Given the description of an element on the screen output the (x, y) to click on. 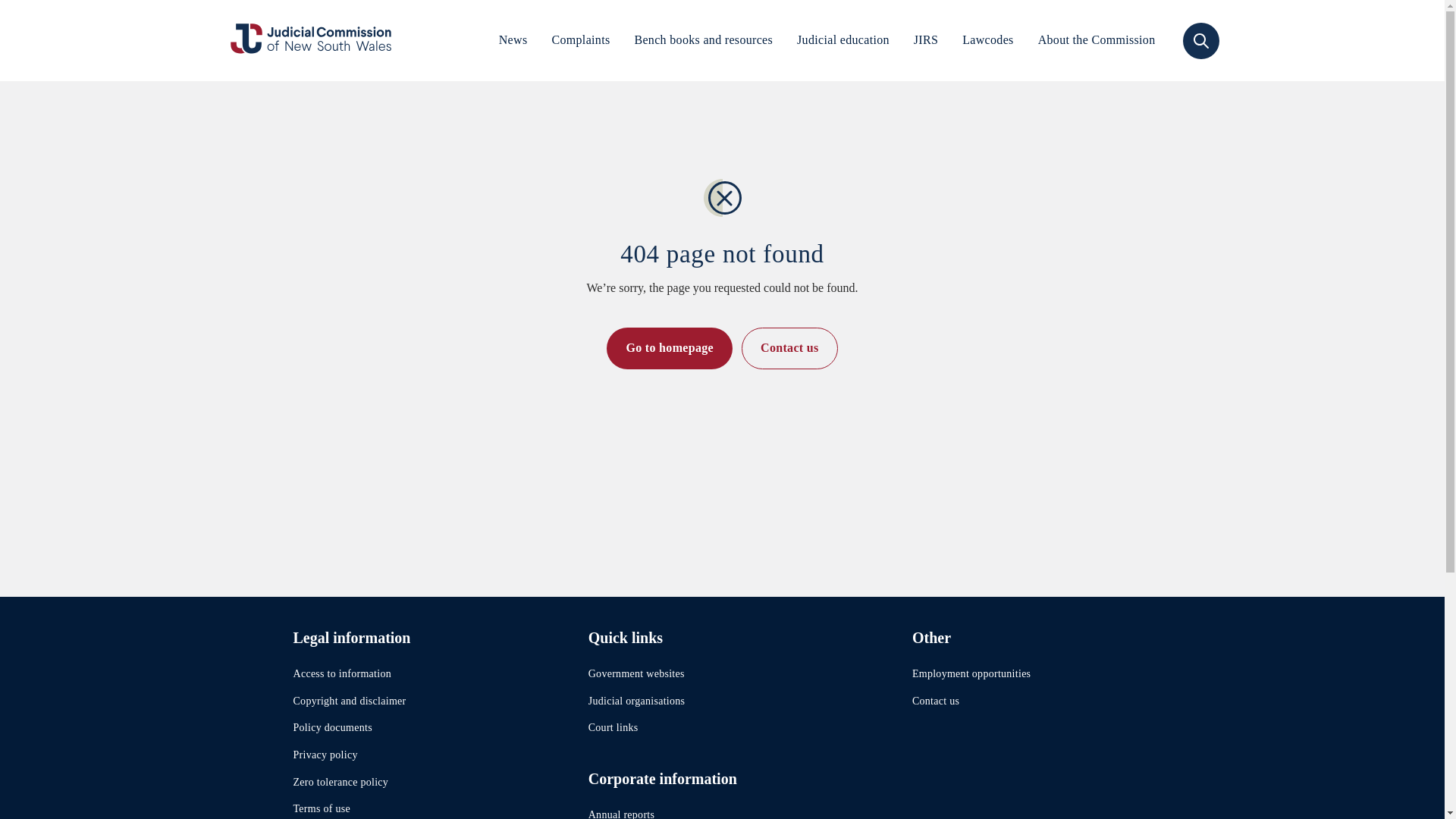
Go to homepage (669, 347)
JIRS (925, 40)
Lawcodes (987, 40)
Contact us (789, 347)
About the Commission (1097, 40)
Policy documents (331, 727)
Copyright and disclaimer (349, 700)
News (513, 40)
Employment opportunities (971, 673)
Access to information (341, 673)
